Given the description of an element on the screen output the (x, y) to click on. 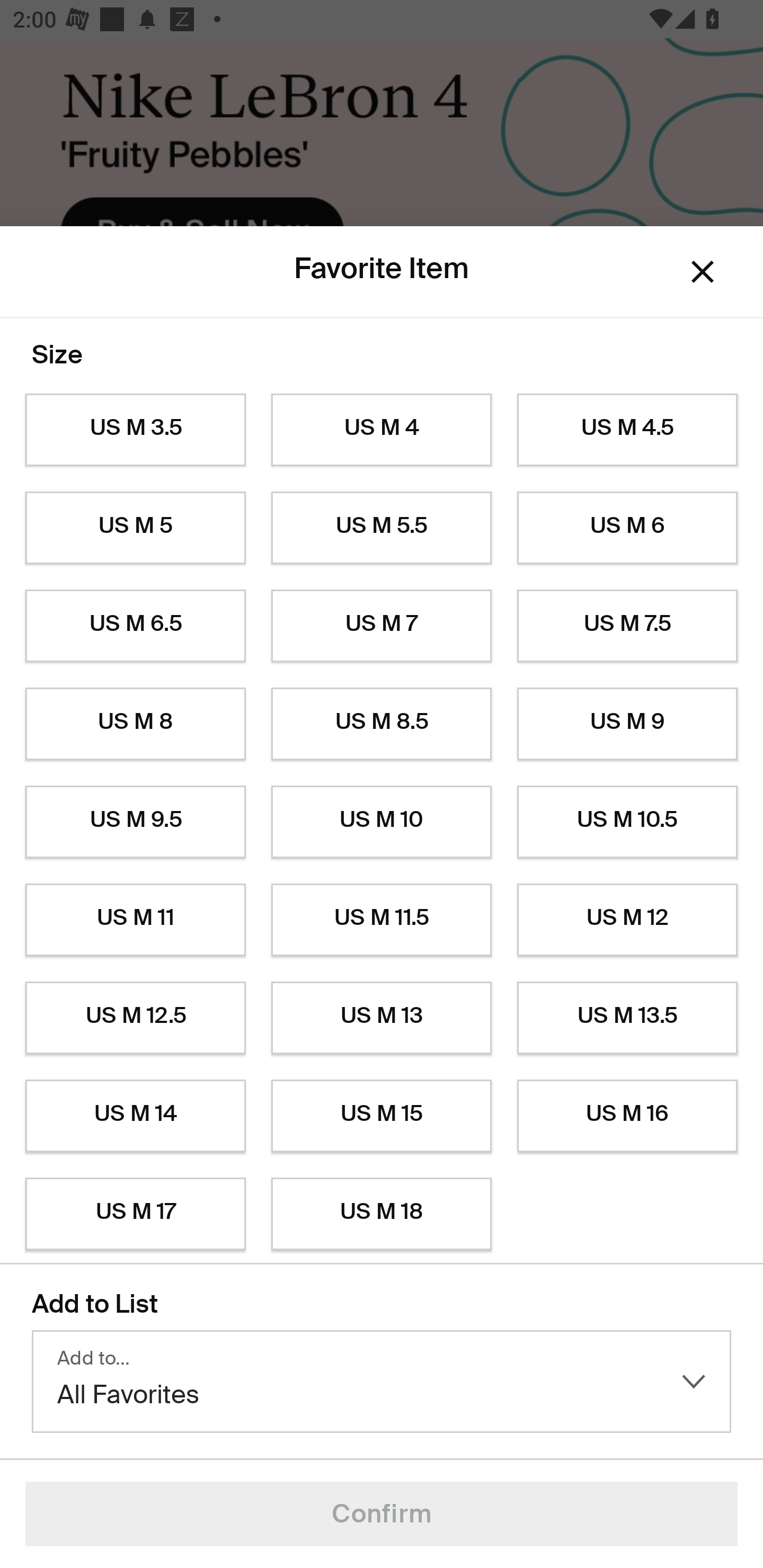
Dismiss (702, 271)
US M 3.5 (135, 430)
US M 4 (381, 430)
US M 4.5 (627, 430)
US M 5 (135, 527)
US M 5.5 (381, 527)
US M 6 (627, 527)
US M 6.5 (135, 626)
US M 7 (381, 626)
US M 7.5 (627, 626)
US M 8 (135, 724)
US M 8.5 (381, 724)
US M 9 (627, 724)
US M 9.5 (135, 822)
US M 10 (381, 822)
US M 10.5 (627, 822)
US M 11 (135, 919)
US M 11.5 (381, 919)
US M 12 (627, 919)
US M 12.5 (135, 1018)
US M 13 (381, 1018)
US M 13.5 (627, 1018)
US M 14 (135, 1116)
US M 15 (381, 1116)
US M 16 (627, 1116)
US M 17 (135, 1214)
US M 18 (381, 1214)
Add to… All Favorites (381, 1381)
Confirm (381, 1513)
